Given the description of an element on the screen output the (x, y) to click on. 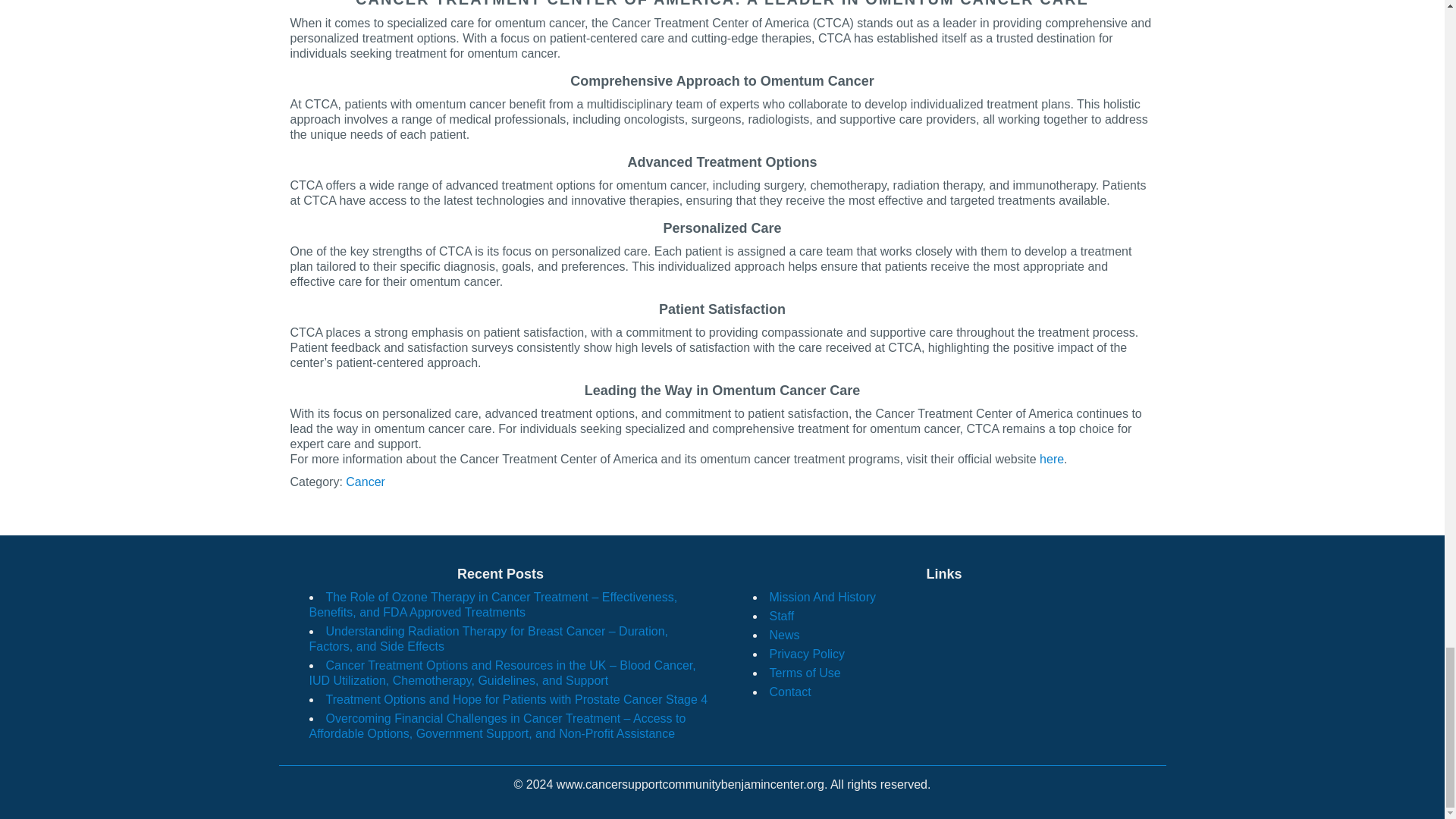
Cancer (365, 481)
Staff (780, 615)
Mission And History (822, 596)
Terms of Use (804, 672)
Contact (789, 691)
Privacy Policy (806, 653)
here (1051, 459)
News (783, 634)
